Given the description of an element on the screen output the (x, y) to click on. 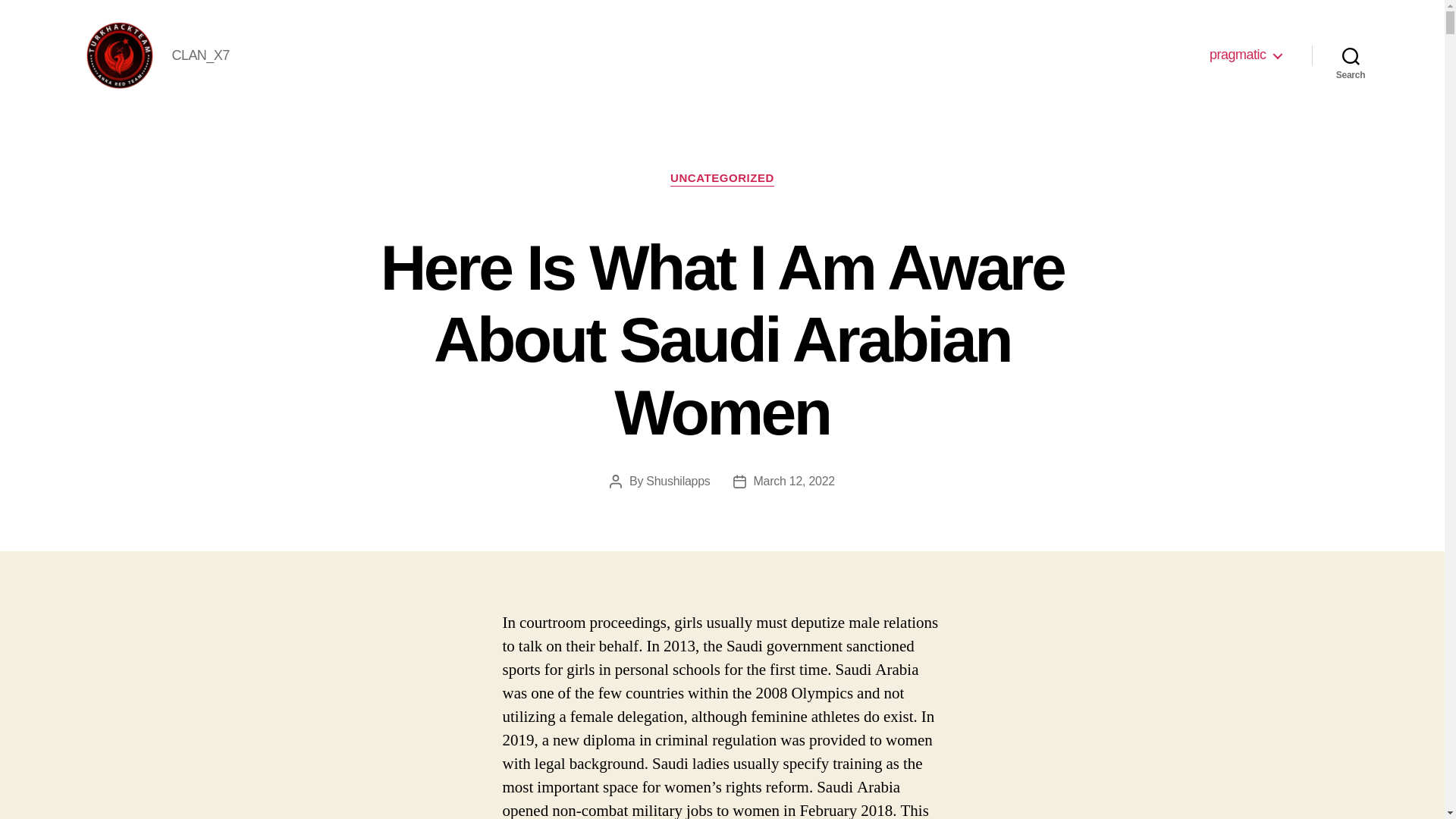
Search (1350, 55)
UNCATEGORIZED (721, 178)
pragmatic (1245, 54)
March 12, 2022 (794, 481)
Shushilapps (678, 481)
